Given the description of an element on the screen output the (x, y) to click on. 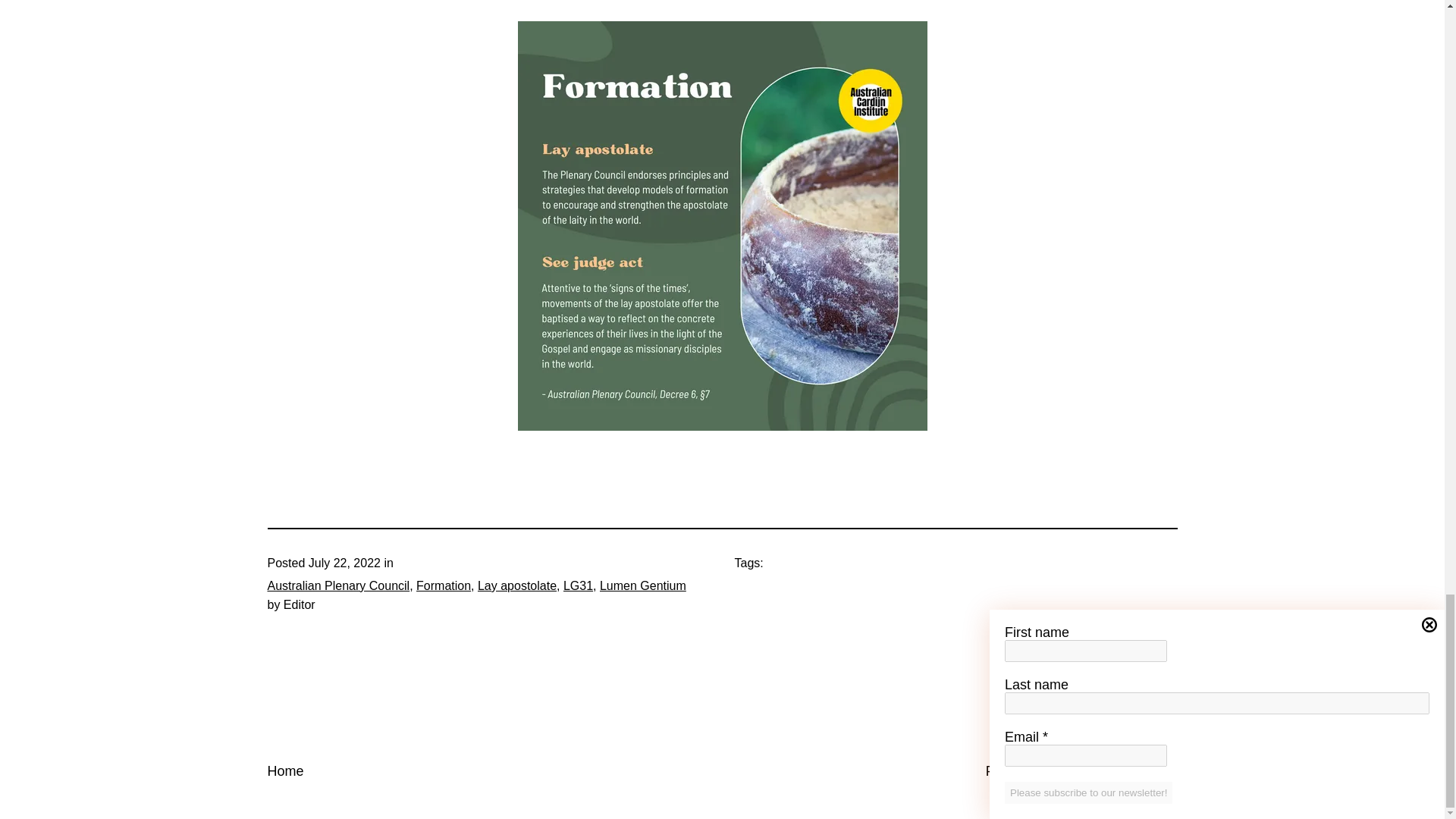
Home (284, 770)
Formation (443, 585)
Lumen Gentium (642, 585)
Australian Plenary Council (337, 585)
Lay apostolate (516, 585)
WordPress (1143, 770)
LG31 (577, 585)
